Given the description of an element on the screen output the (x, y) to click on. 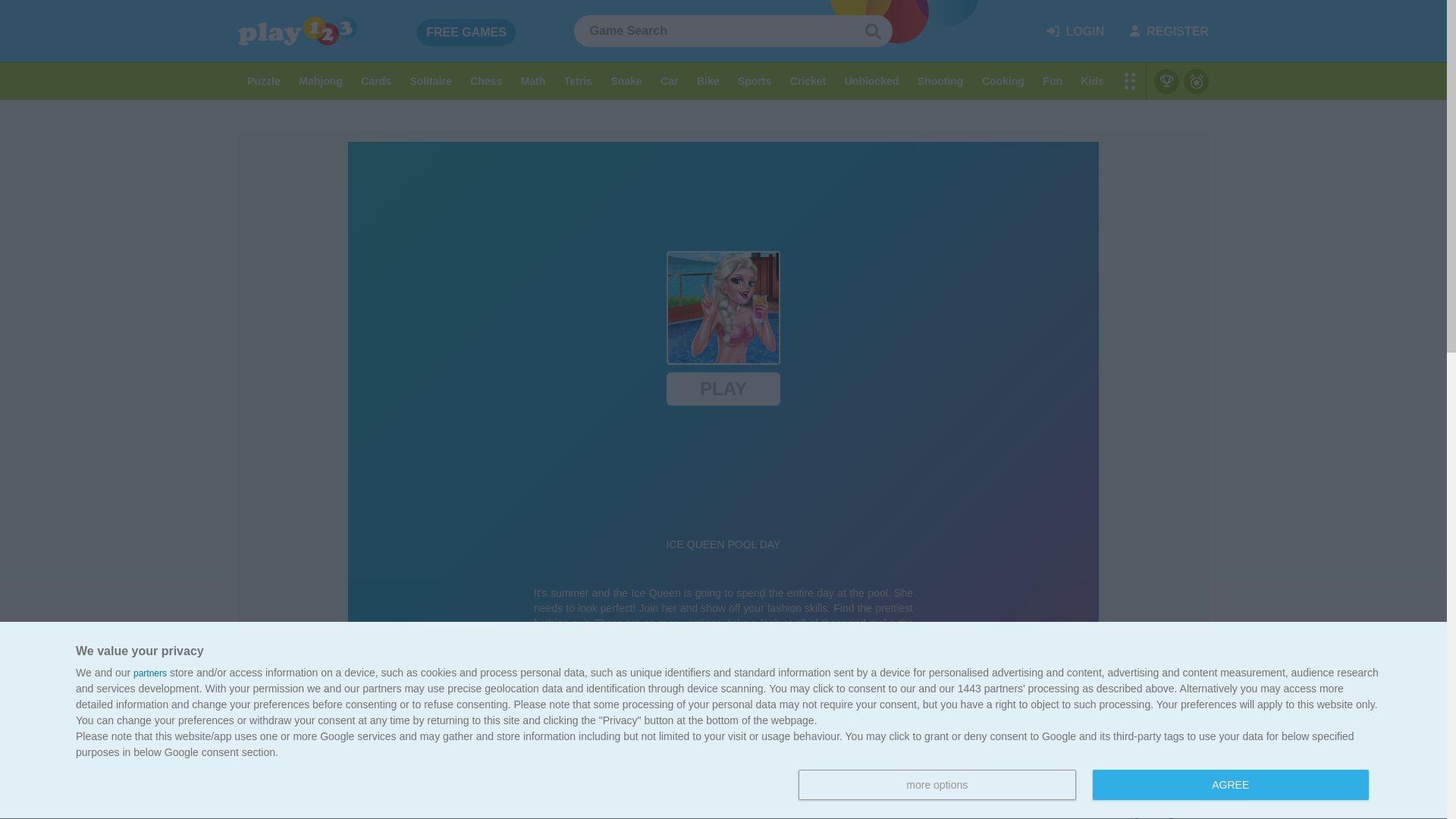
more options (936, 784)
AGREE (1086, 785)
REGISTER (1230, 784)
Cricket (1168, 30)
Cooking (807, 81)
Unblocked (1002, 81)
Kids (870, 81)
LOGIN (1092, 81)
FREE GAMES (1075, 30)
Car (465, 31)
Math (668, 81)
free games (532, 81)
please login to add this game to your favorites (465, 31)
Cards (1042, 735)
